Given the description of an element on the screen output the (x, y) to click on. 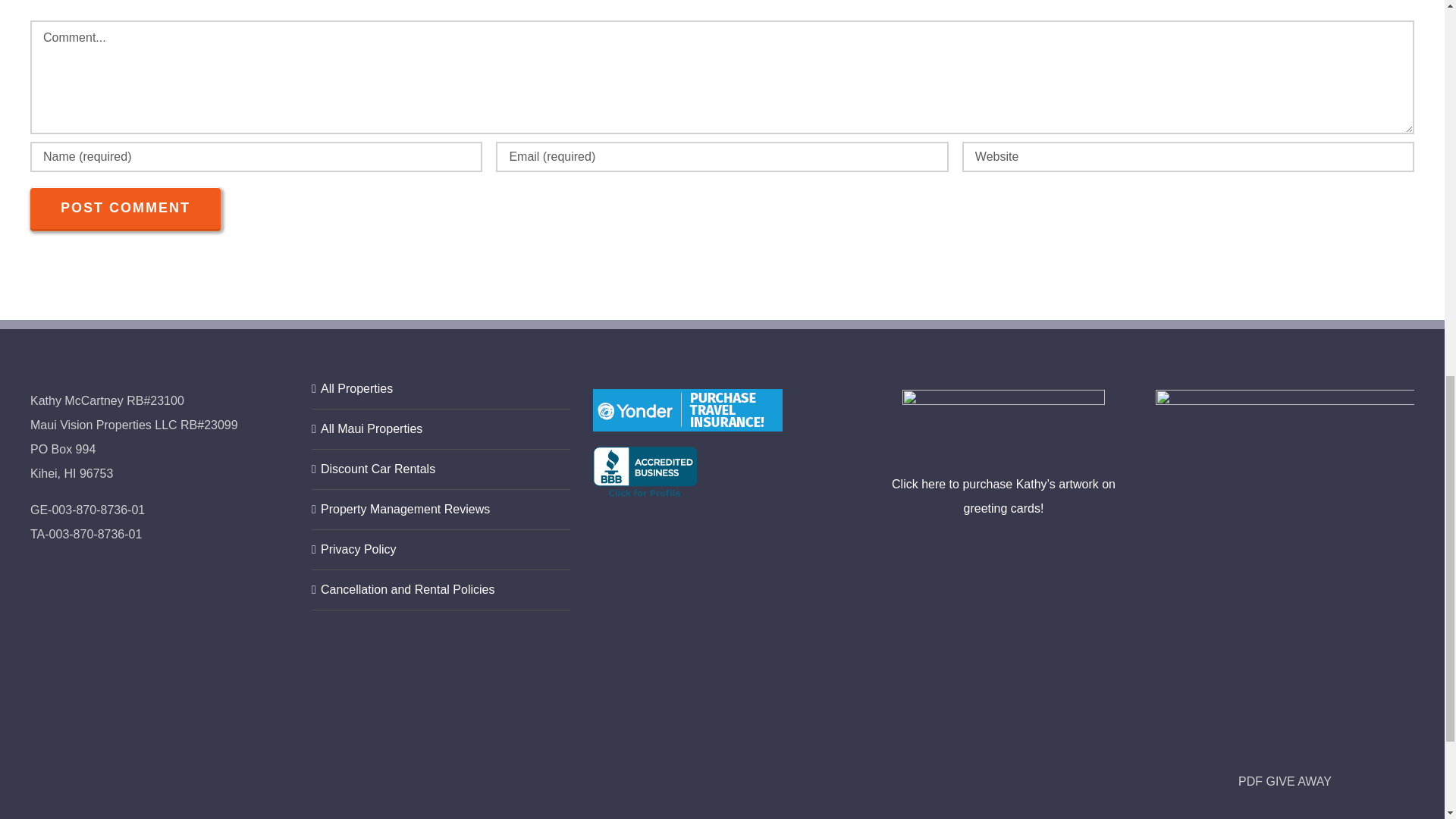
All Properties (441, 388)
Yonder Travel Insurance (687, 410)
Post Comment (125, 208)
Post Comment (125, 208)
